Given the description of an element on the screen output the (x, y) to click on. 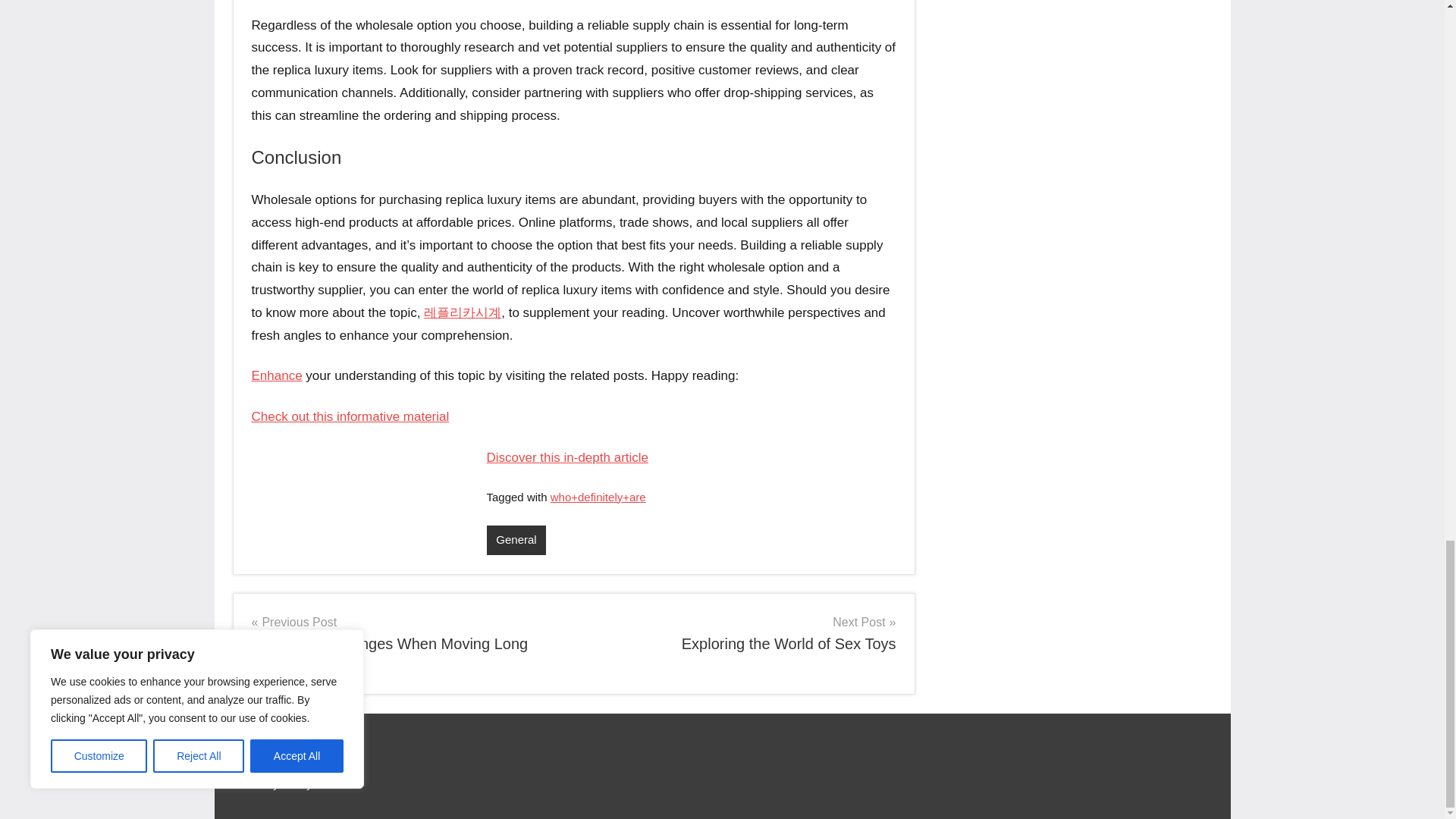
General (516, 540)
Enhance (740, 632)
Discover this in-depth article (276, 375)
Check out this informative material (567, 457)
